Given the description of an element on the screen output the (x, y) to click on. 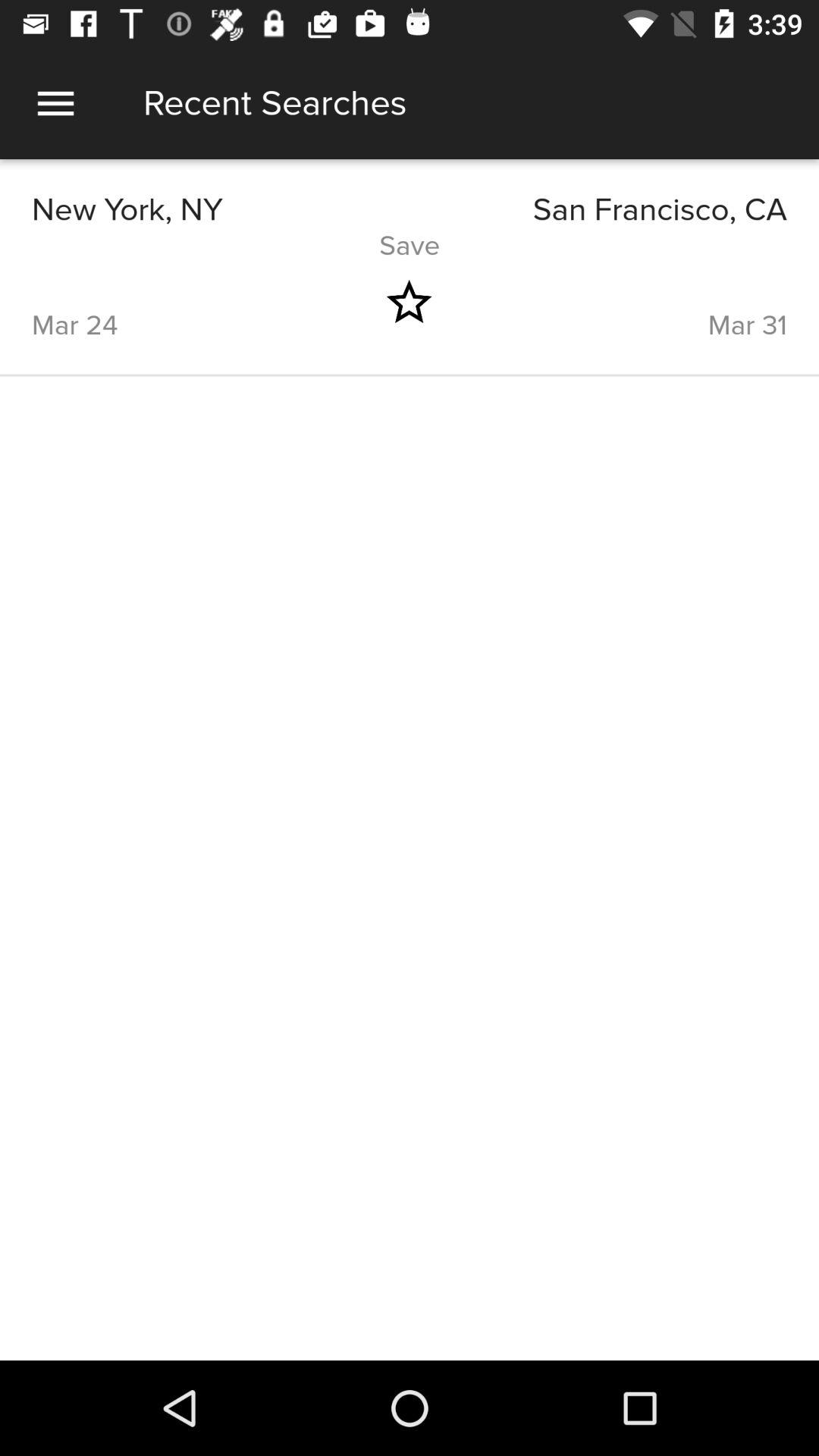
swipe until the new york, ny icon (220, 210)
